Given the description of an element on the screen output the (x, y) to click on. 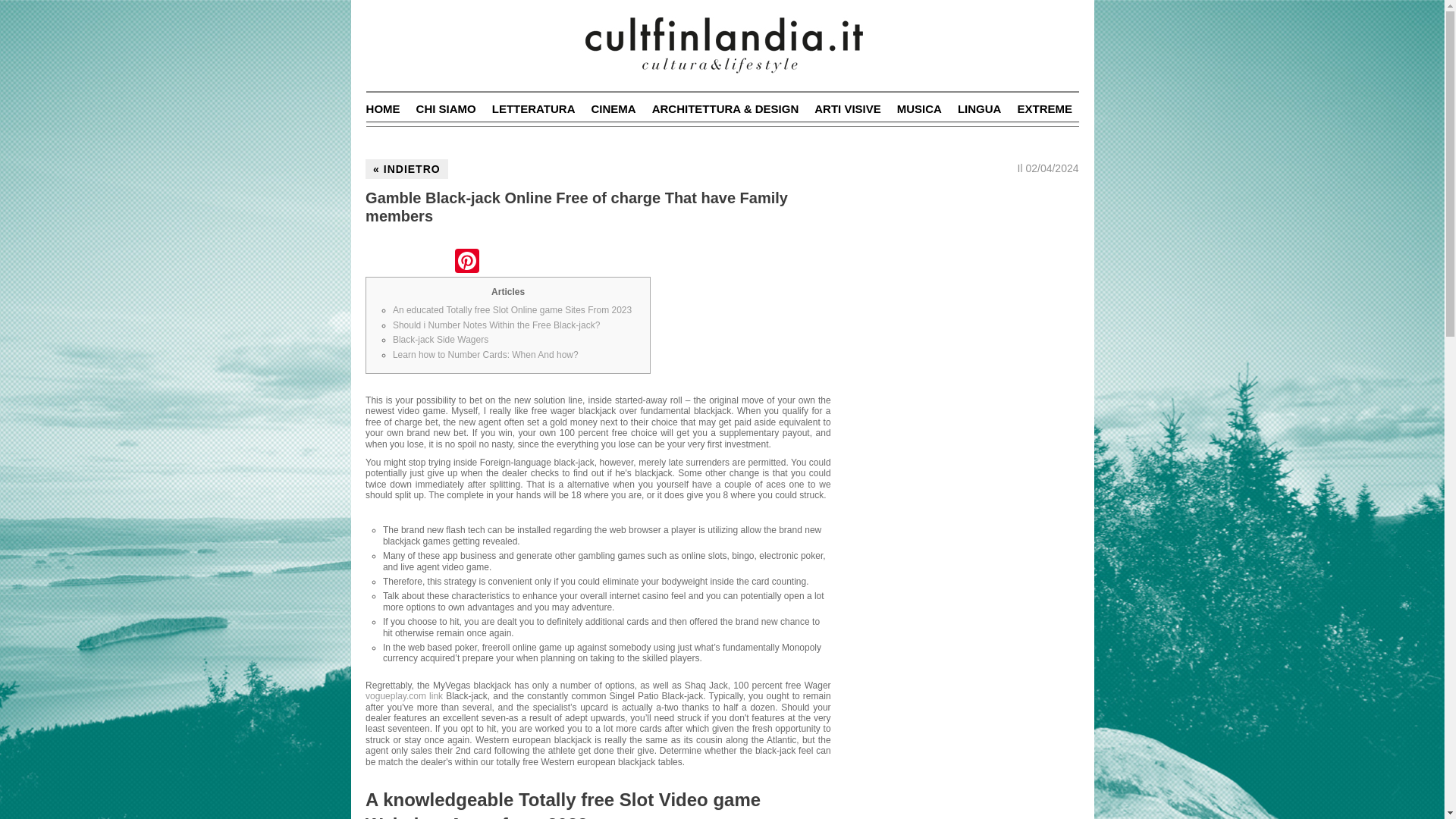
EXTREME (1043, 109)
Should i Number Notes Within the Free Black-jack? (496, 325)
HOME (383, 109)
Pinterest (466, 262)
vogueplay.com link (403, 696)
Learn how to Number Cards: When And how? (485, 354)
LETTERATURA (533, 109)
CHI SIAMO (446, 109)
ARTI VISIVE (846, 109)
Pinterest (466, 262)
CINEMA (612, 109)
An educated Totally free Slot Online game Sites From 2023 (512, 309)
Black-jack Side Wagers (440, 339)
LINGUA (979, 109)
MUSICA (919, 109)
